Given the description of an element on the screen output the (x, y) to click on. 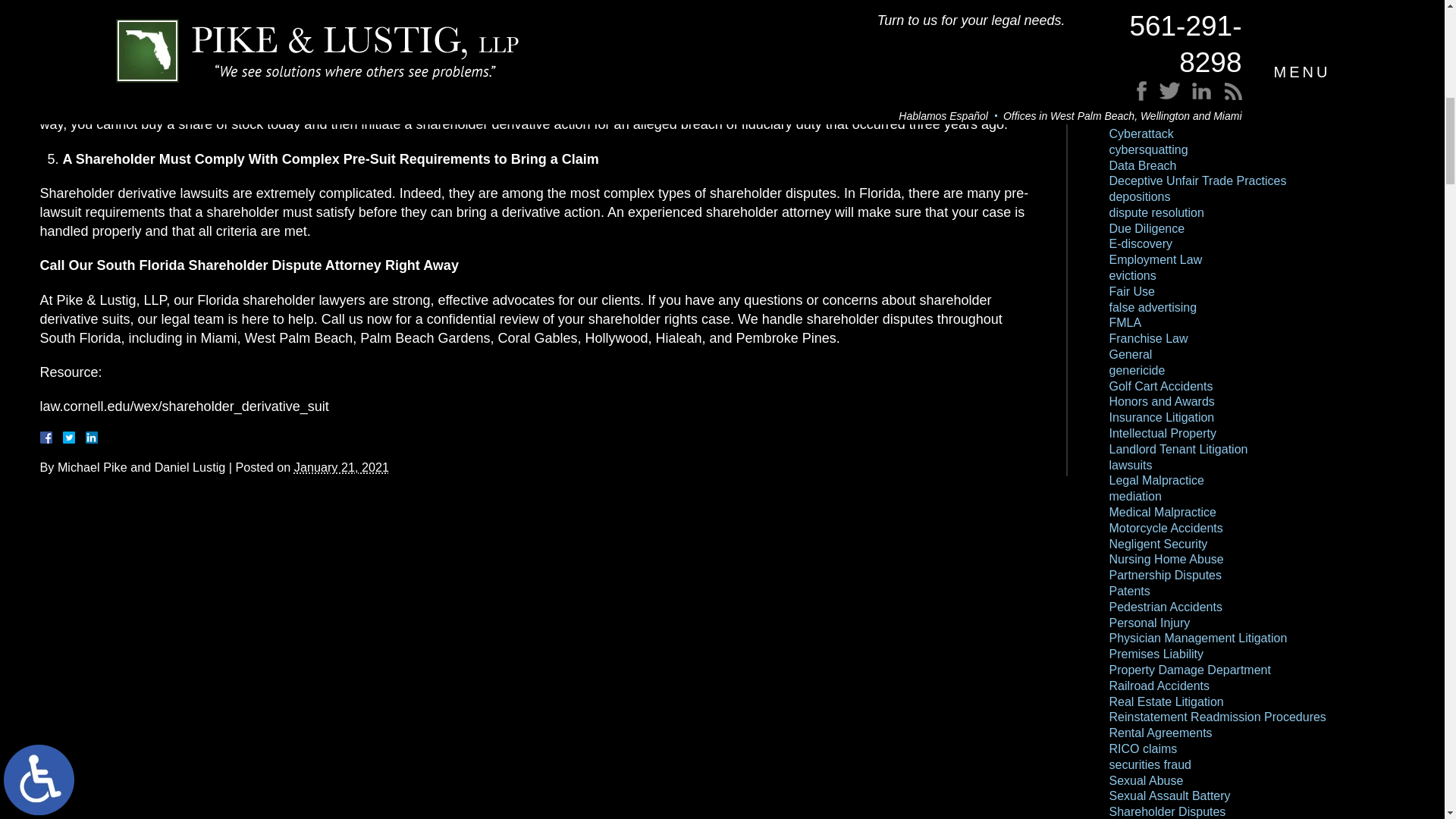
2021-01-21T03:00:26-0800 (341, 467)
Twitter (74, 437)
Facebook (63, 437)
LinkedIn (85, 437)
